Given the description of an element on the screen output the (x, y) to click on. 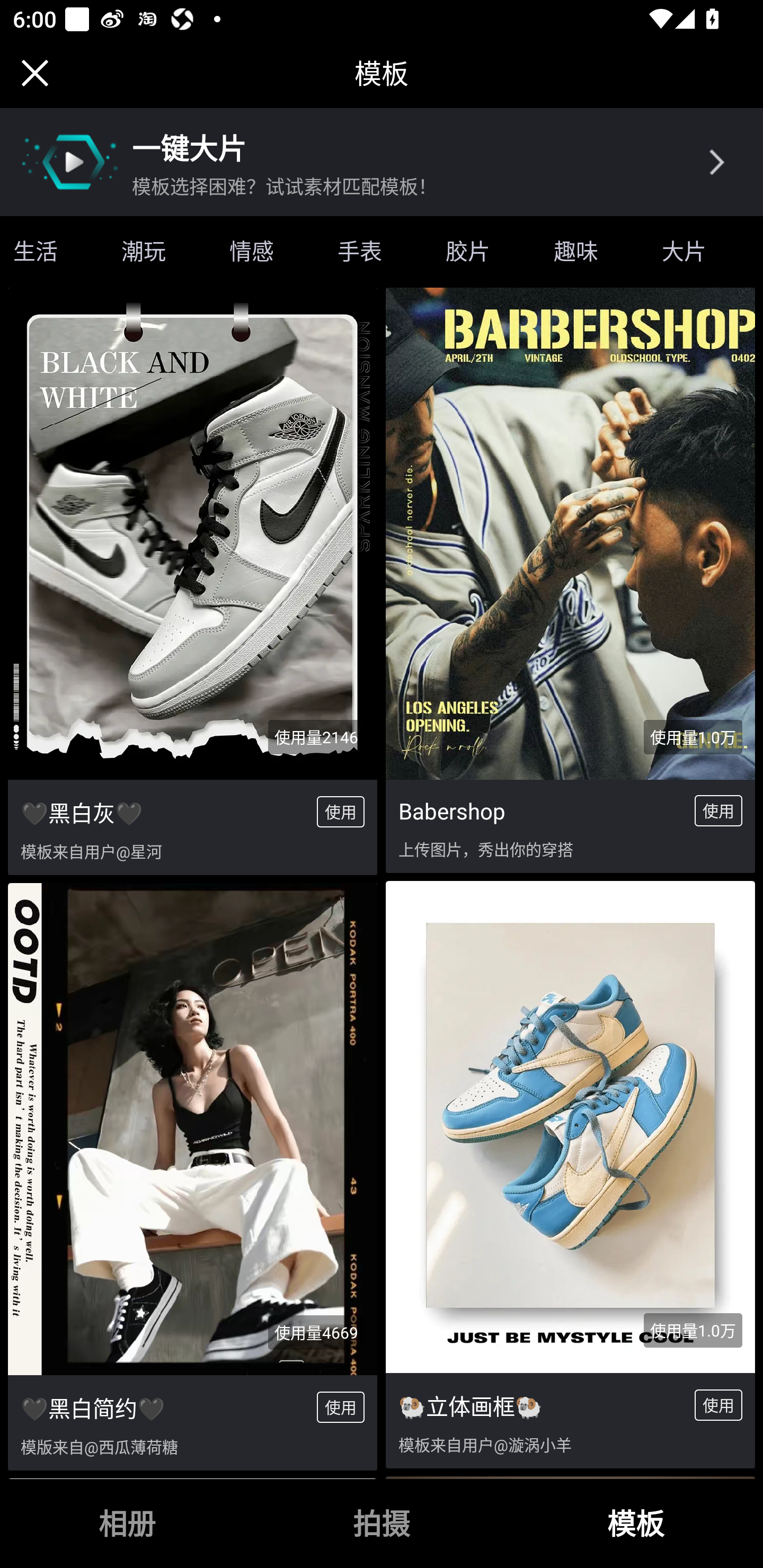
一键大片 模板选择困难？试试素材匹配模板！ (381, 162)
生活 (44, 250)
潮玩 (143, 250)
情感 (251, 250)
手表 (359, 250)
胶片 (467, 250)
趣味 (575, 250)
大片 (683, 250)
相册 (127, 1523)
拍摄 (381, 1523)
模板 (635, 1523)
